Given the description of an element on the screen output the (x, y) to click on. 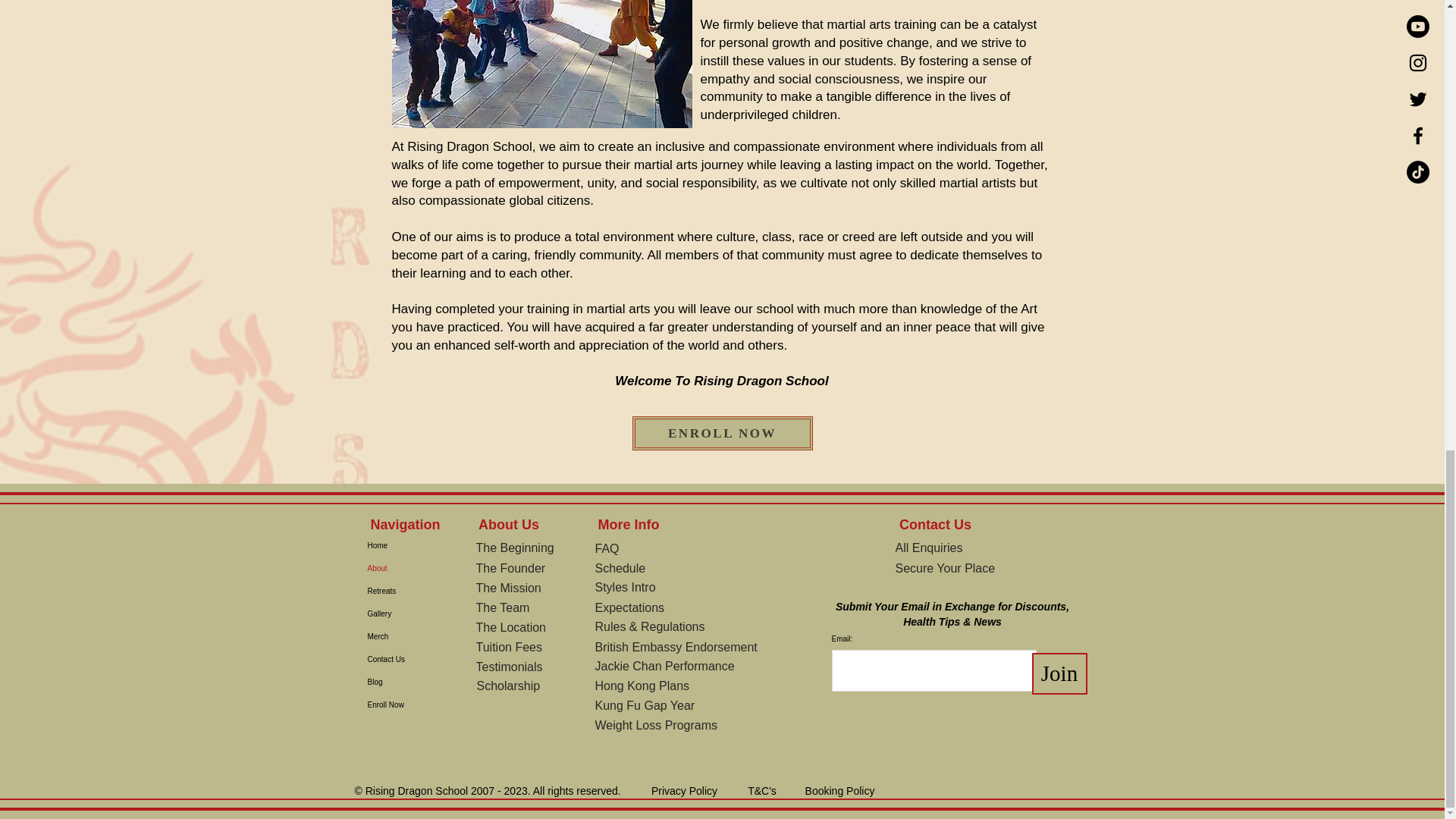
Merch (394, 636)
Retreats (394, 590)
Home (394, 545)
Contact Us (394, 659)
ENROLL NOW (721, 433)
Gallery (394, 613)
About (394, 568)
